Given the description of an element on the screen output the (x, y) to click on. 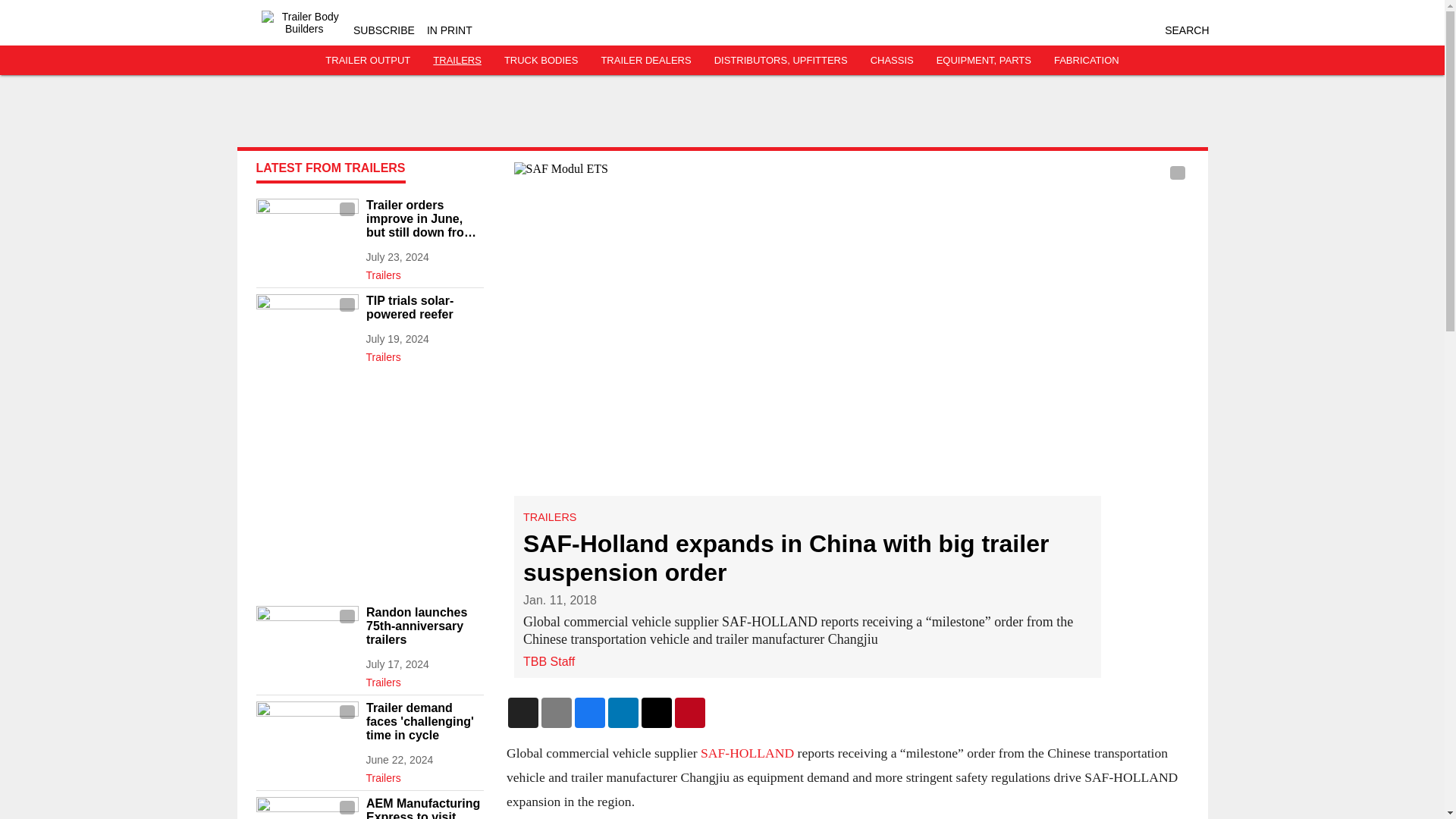
Trailers (424, 774)
Trailer orders improve in June, but still down from 2023 (424, 219)
TRAILERS (456, 60)
FABRICATION (1086, 60)
TRUCK BODIES (540, 60)
Trailers (424, 679)
AEM Manufacturing Express to visit Felling (424, 807)
TIP trials solar-powered reefer (424, 307)
TRAILER DEALERS (644, 60)
EQUIPMENT, PARTS (983, 60)
SEARCH (1186, 30)
IN PRINT (448, 30)
Randon launches 75th-anniversary trailers (424, 626)
TRAILERS (549, 517)
